Given the description of an element on the screen output the (x, y) to click on. 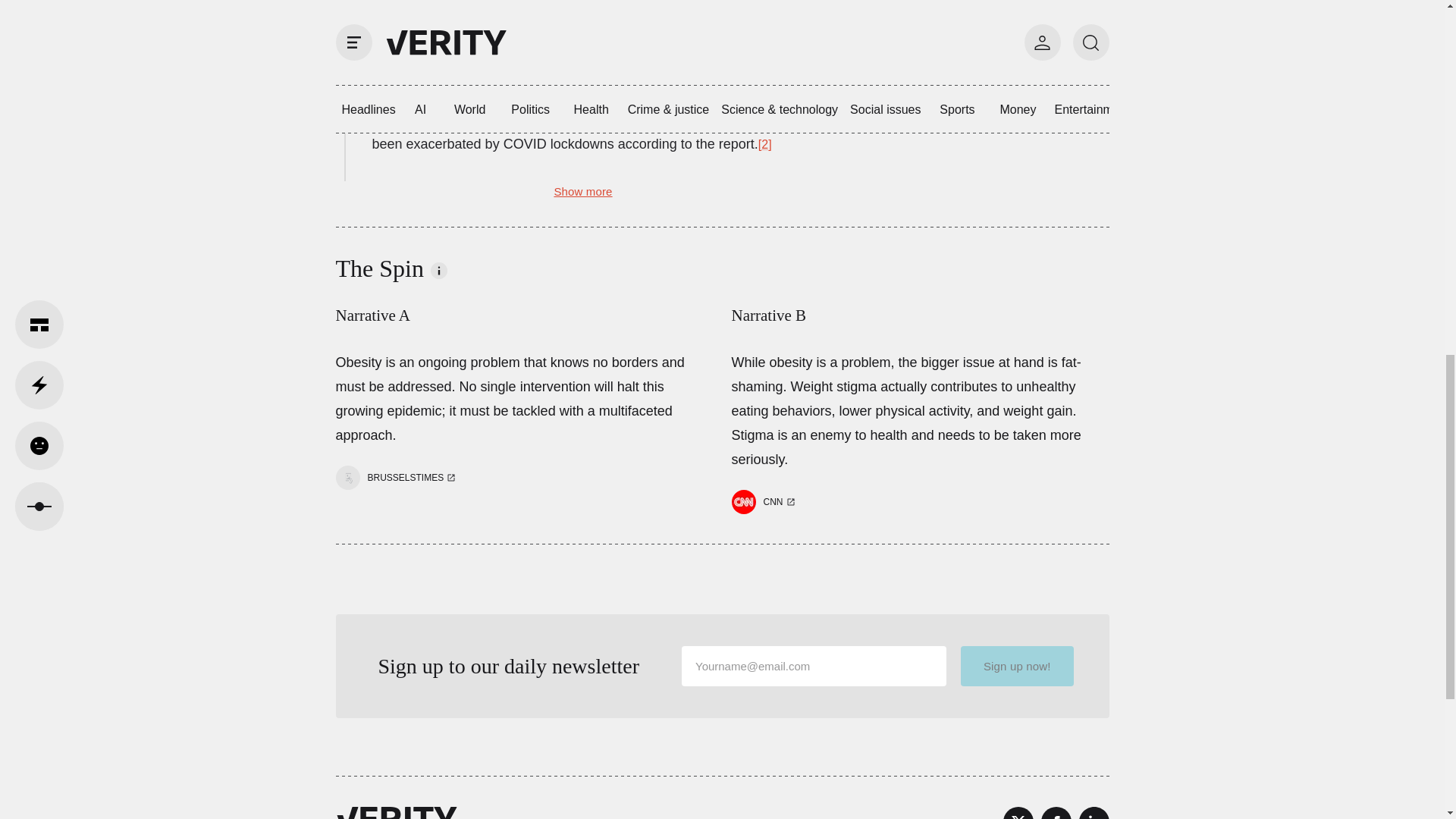
CNN (772, 501)
Show more (581, 191)
Brusselstimes (405, 477)
BRUSSELSTIMES (397, 477)
CNN (763, 501)
